Given the description of an element on the screen output the (x, y) to click on. 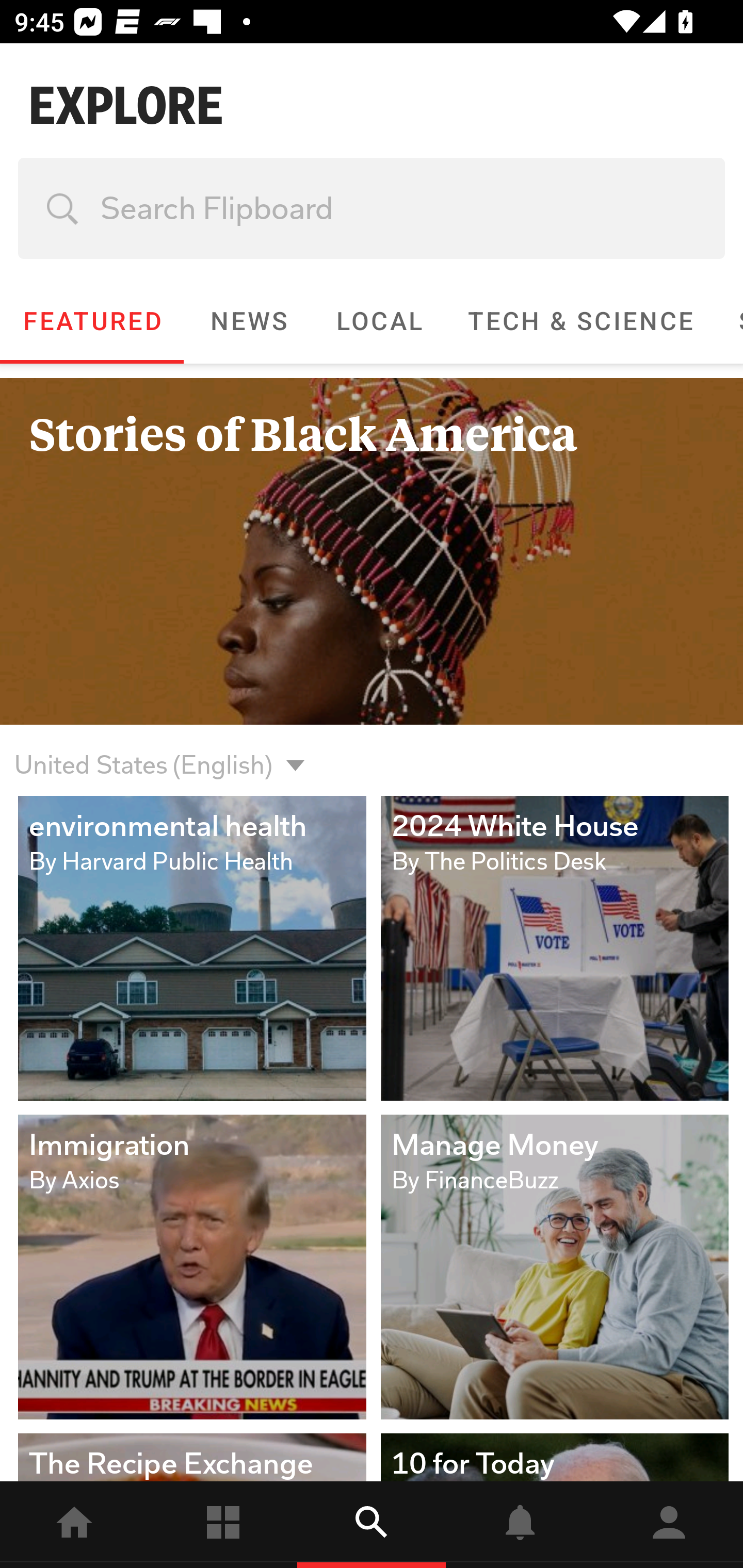
Search Flipboard (371, 208)
News NEWS (248, 320)
Local LOCAL (379, 320)
Tech & Science TECH & SCIENCE (580, 320)
United States (English) (371, 753)
home (74, 1524)
Following (222, 1524)
explore (371, 1524)
Notifications (519, 1524)
Profile (668, 1524)
